Given the description of an element on the screen output the (x, y) to click on. 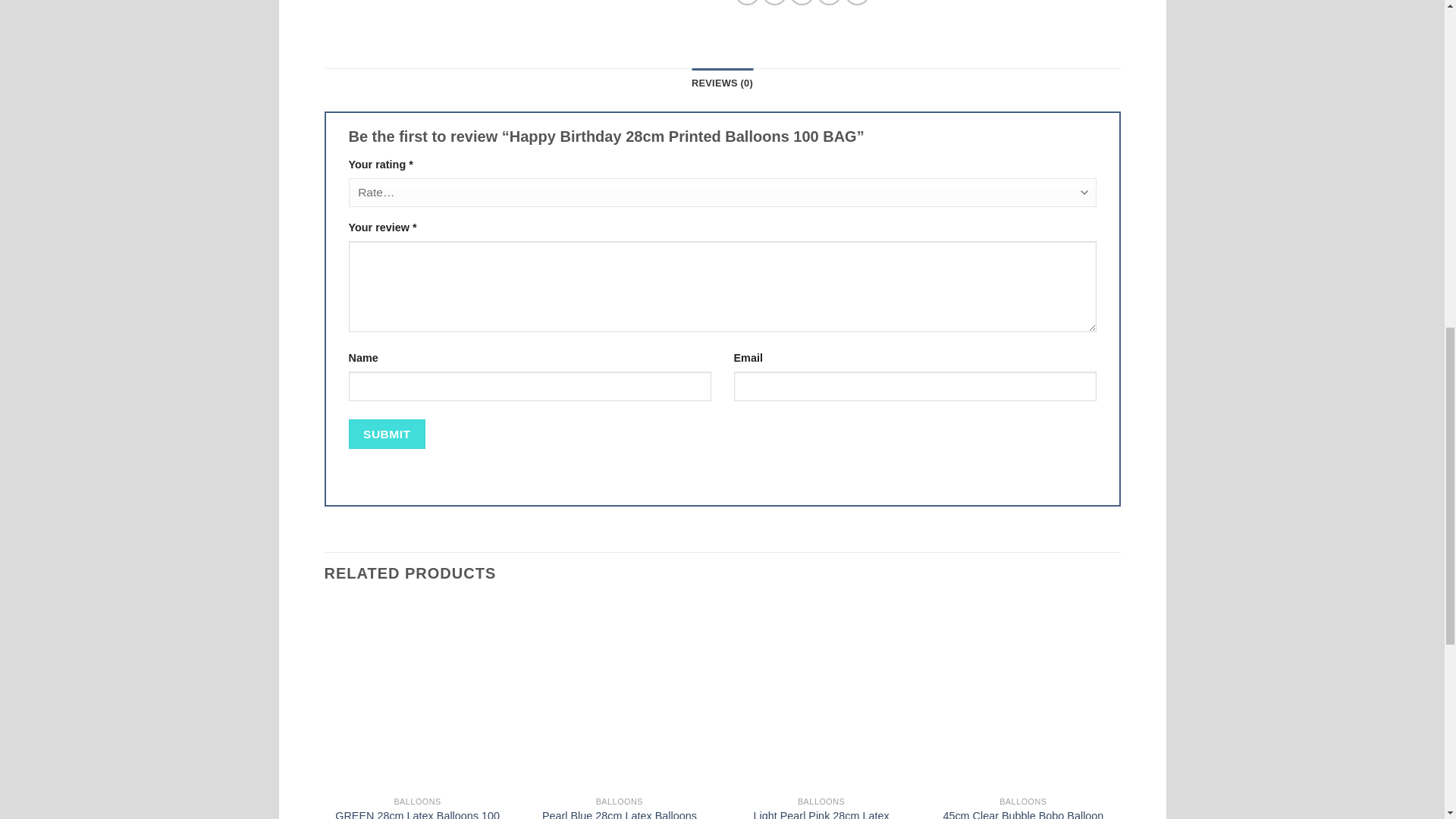
Share on Facebook (747, 2)
Email to a Friend (801, 2)
Pin on Pinterest (828, 2)
Share on Twitter (774, 2)
Submit (387, 432)
